Given the description of an element on the screen output the (x, y) to click on. 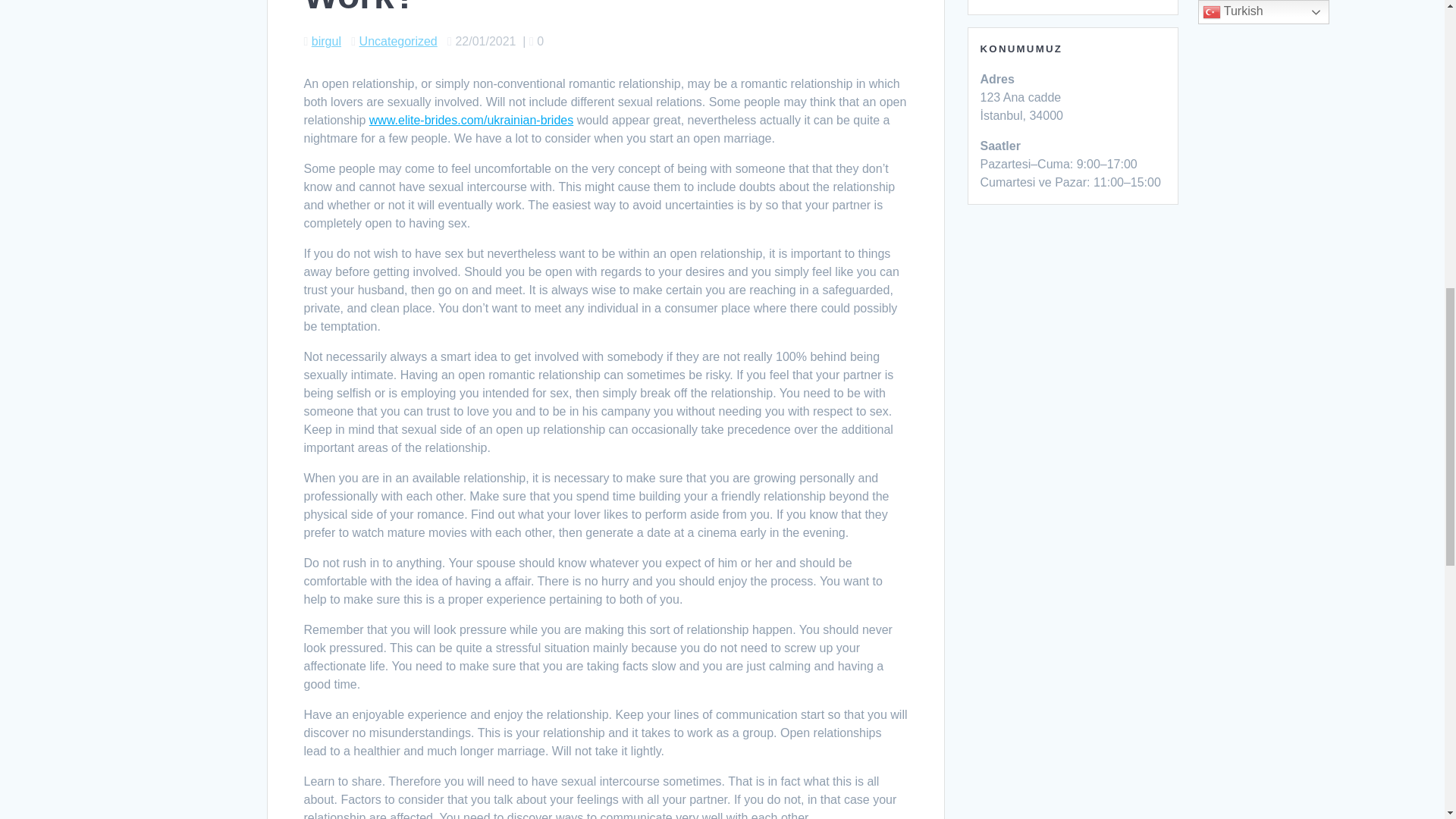
Uncategorized (398, 41)
birgul (325, 41)
